Given the description of an element on the screen output the (x, y) to click on. 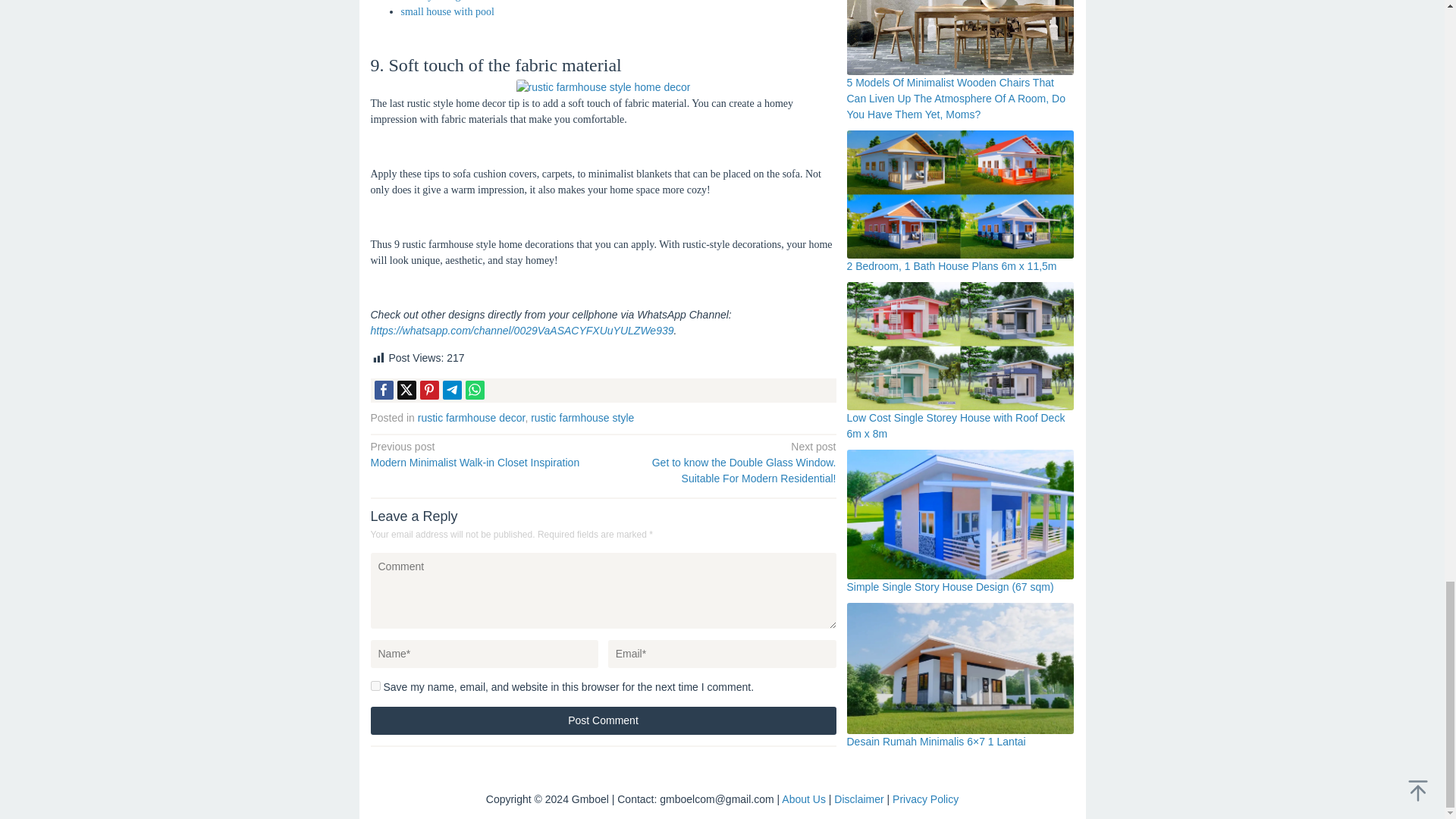
Whatsapp (474, 389)
Telegram Share (451, 389)
Pin this (429, 389)
yes (374, 685)
Post Comment (602, 720)
Tweet this (406, 389)
Share this (383, 389)
rustic farmhouse style home decor (602, 87)
